Given the description of an element on the screen output the (x, y) to click on. 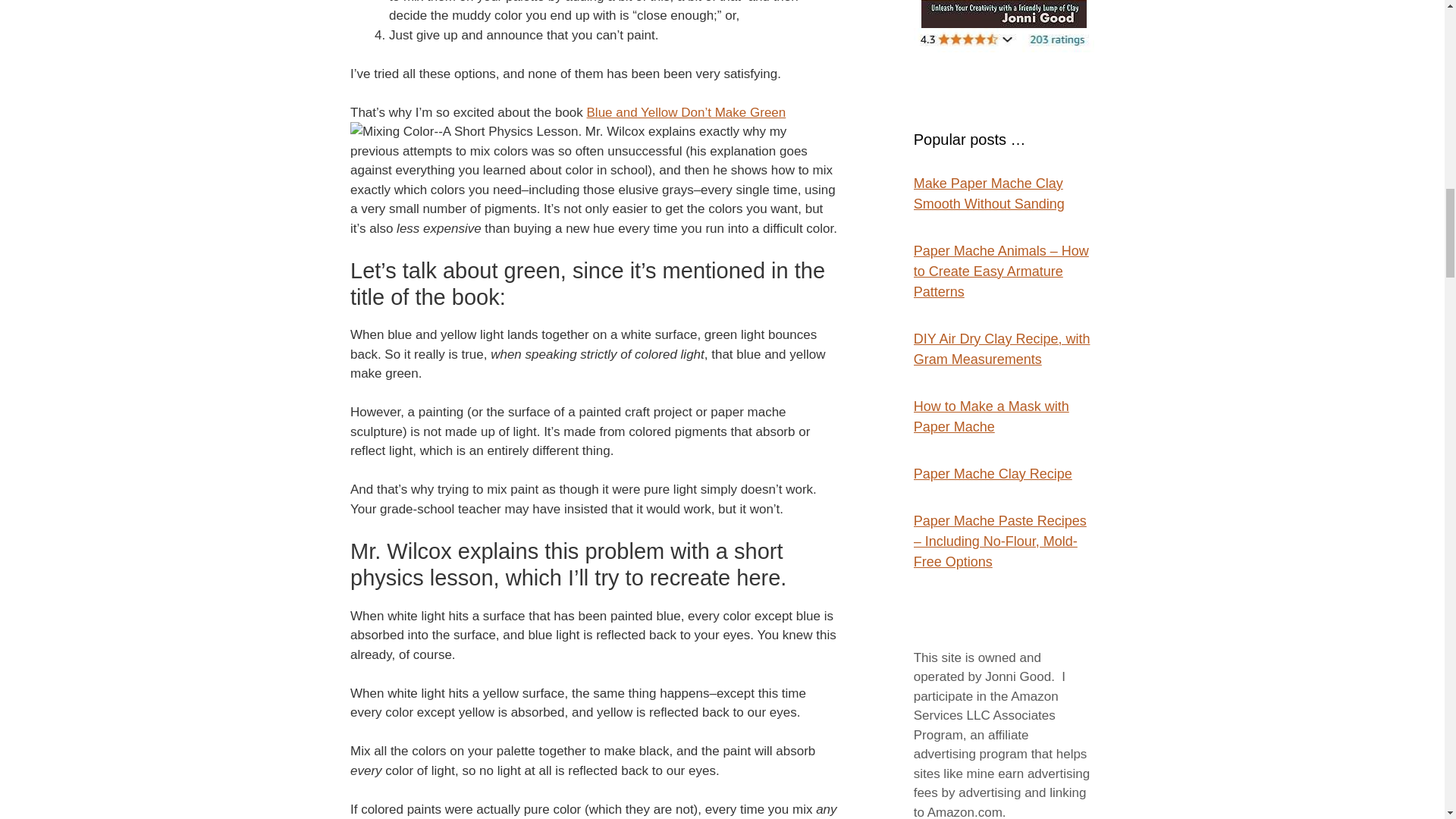
Mixing Color--A Short Physics Lesson 2 (464, 131)
